Given the description of an element on the screen output the (x, y) to click on. 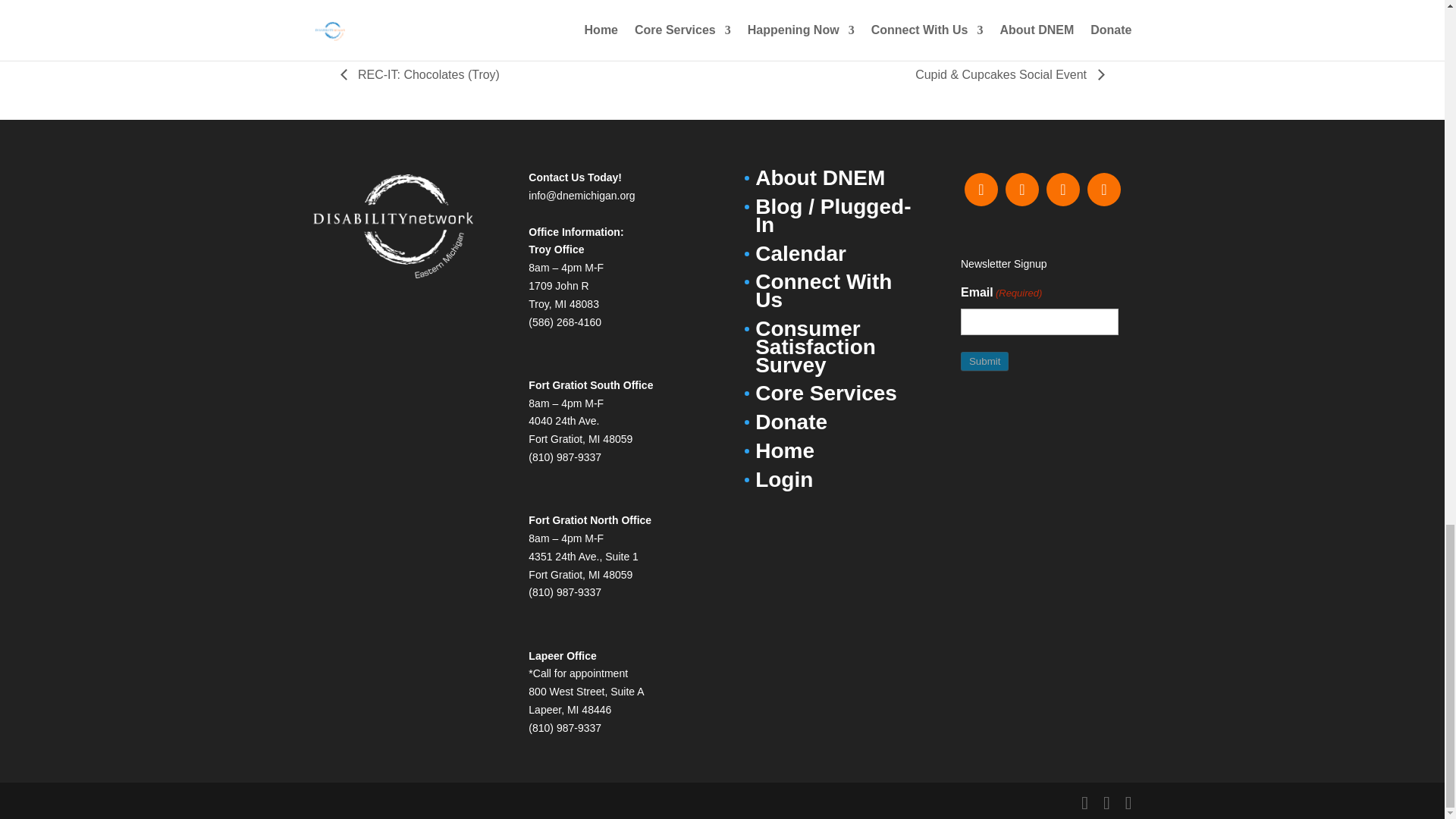
Instagram (1021, 188)
Event Series (1011, 4)
Youtube (1103, 188)
Facebook (980, 188)
Event Series (481, 4)
Submit (984, 361)
Linkedin (1062, 188)
